Given the description of an element on the screen output the (x, y) to click on. 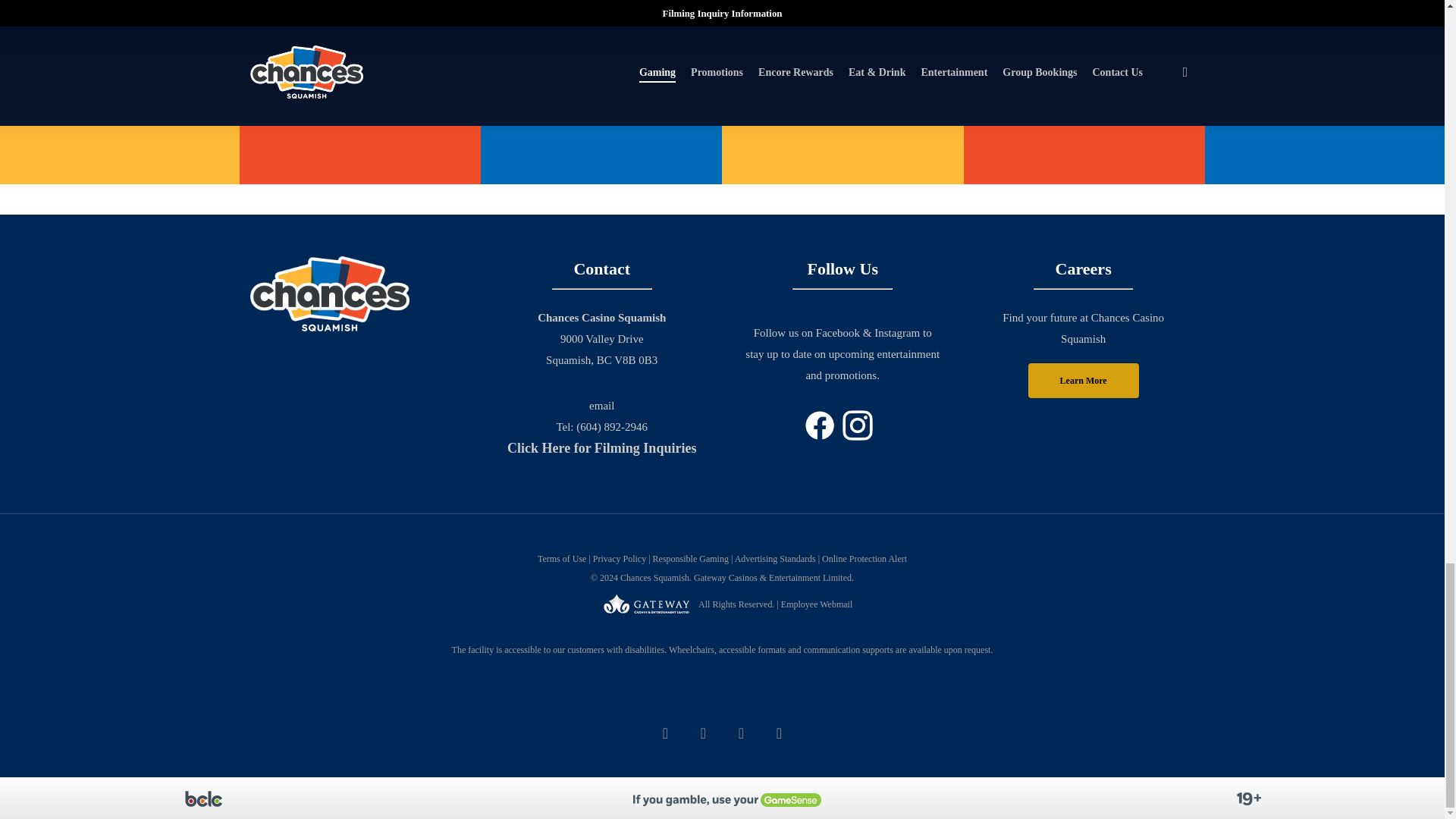
Responsible Gaming (690, 558)
Learn More (1082, 380)
Employee Webmail (665, 708)
Employee Webmail (721, 627)
Terms of Use (561, 558)
Online Protection Alert (864, 558)
Privacy Policy (619, 558)
Click Here for Filming Inquiries (600, 447)
Advertising Standards (775, 558)
